Given the description of an element on the screen output the (x, y) to click on. 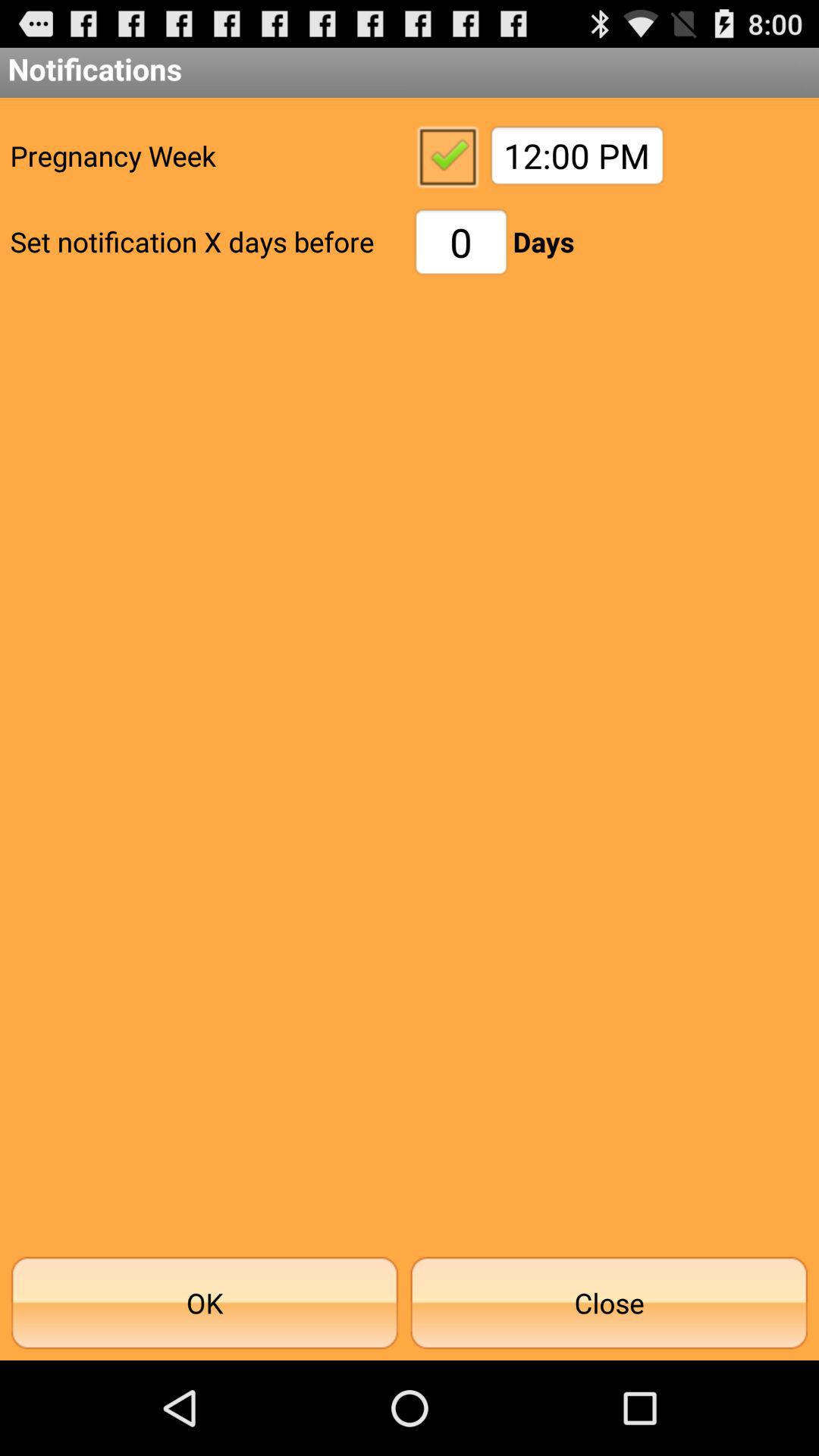
open app next to days (461, 241)
